Given the description of an element on the screen output the (x, y) to click on. 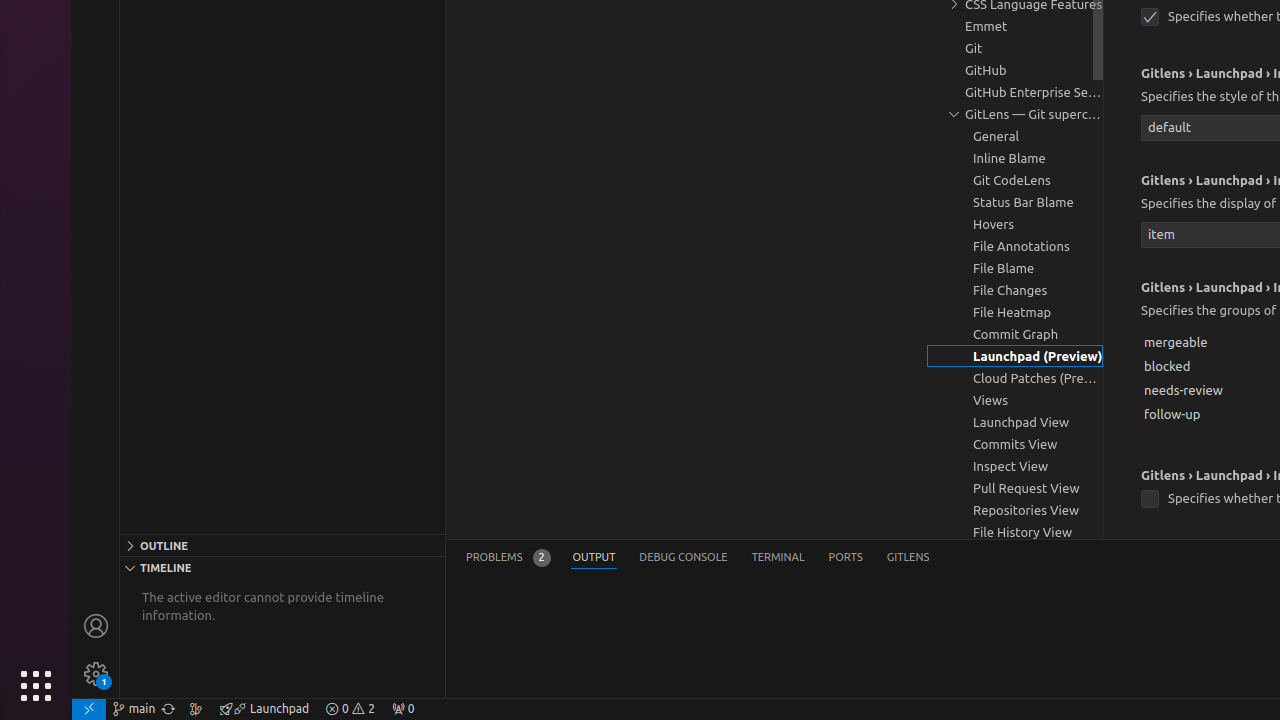
Ports Element type: page-tab (845, 557)
File Annotations, group Element type: tree-item (1015, 246)
Inspect View, group Element type: tree-item (1015, 466)
Warnings: 2 Element type: push-button (350, 709)
Outline Section Element type: push-button (282, 545)
